Given the description of an element on the screen output the (x, y) to click on. 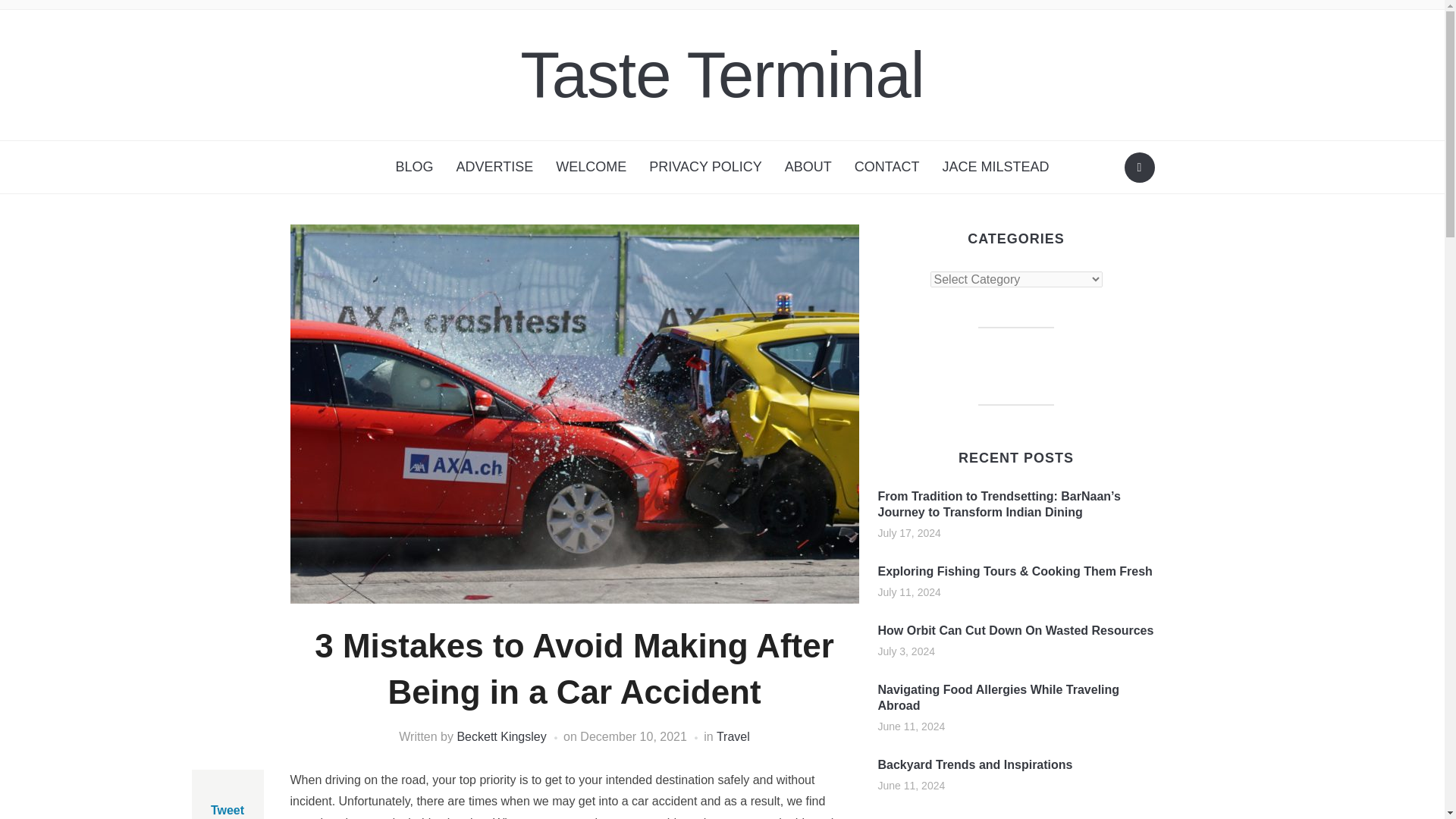
JACE MILSTEAD (994, 166)
Search (1139, 167)
Navigating Food Allergies While Traveling Abroad (998, 697)
Taste Terminal (721, 74)
ADVERTISE (494, 166)
Travel (732, 736)
ABOUT (808, 166)
Tweet (227, 809)
PRIVACY POLICY (705, 166)
Posts by Beckett Kingsley (501, 736)
WELCOME (590, 166)
How Orbit Can Cut Down On Wasted Resources (1015, 630)
Beckett Kingsley (501, 736)
BLOG (414, 166)
CONTACT (887, 166)
